Given the description of an element on the screen output the (x, y) to click on. 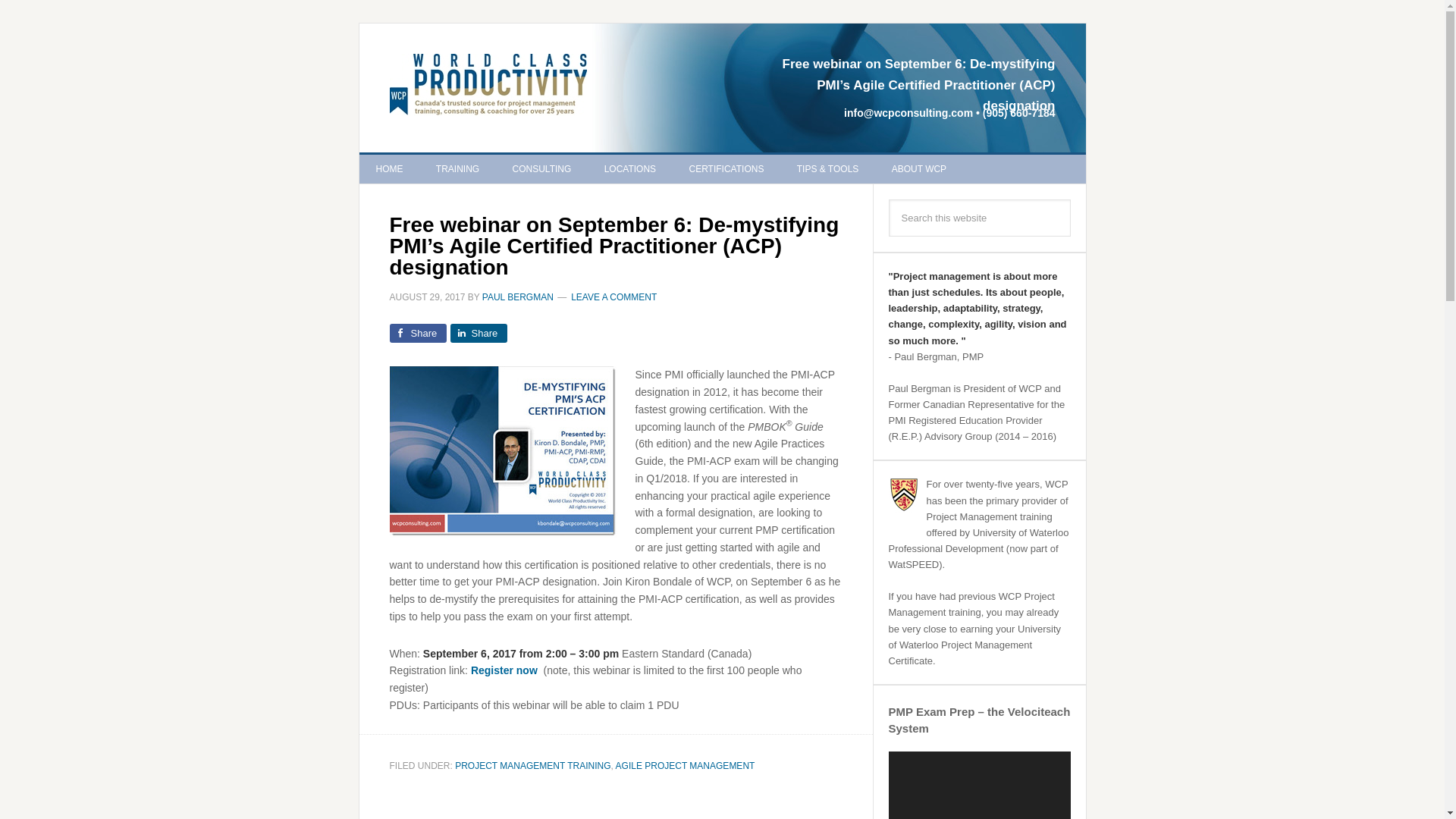
HOME (389, 168)
LOCATIONS (630, 168)
CERTIFICATIONS (725, 168)
CONSULTING (542, 168)
Project Management Consulting (542, 168)
WCP (488, 88)
TRAINING (457, 168)
Project Management Workshops (457, 168)
